Given the description of an element on the screen output the (x, y) to click on. 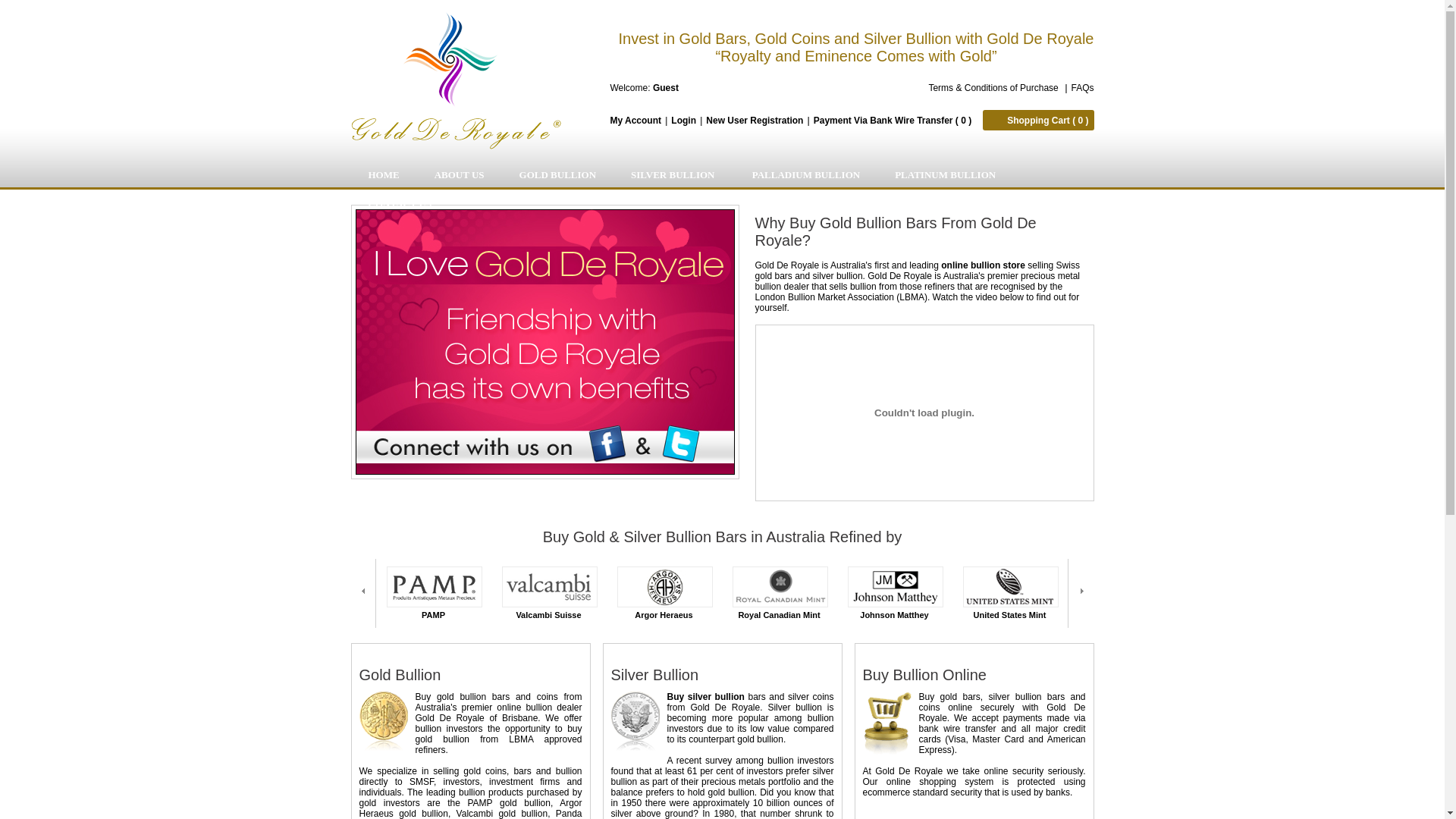
ABOUT US Element type: text (459, 174)
HOME Element type: text (383, 174)
Shopping Cart ( 0 ) Element type: text (1037, 119)
Valcambi Suisse Element type: hover (549, 586)
United States Mint Element type: hover (1010, 586)
PLATINUM BULLION Element type: text (945, 174)
Argor Heraeus Element type: hover (664, 586)
Login Element type: text (683, 120)
CONTACT US Element type: text (399, 203)
SILVER BULLION Element type: text (672, 174)
 PALLADIUM BULLION Element type: text (804, 174)
My Account Element type: text (635, 120)
Johnson Matthey Element type: hover (895, 586)
Royal Canadian Mint Element type: hover (780, 586)
New User Registration Element type: text (754, 120)
FAQs Element type: text (1081, 86)
gold bullion Element type: text (461, 696)
PAMP Element type: hover (434, 586)
Gold De Royale Element type: hover (455, 80)
Terms & Conditions of Purchase Element type: text (994, 86)
Payment Via Bank Wire Transfer ( 0 ) Element type: text (892, 120)
GOLD BULLION Element type: text (558, 174)
